Given the description of an element on the screen output the (x, y) to click on. 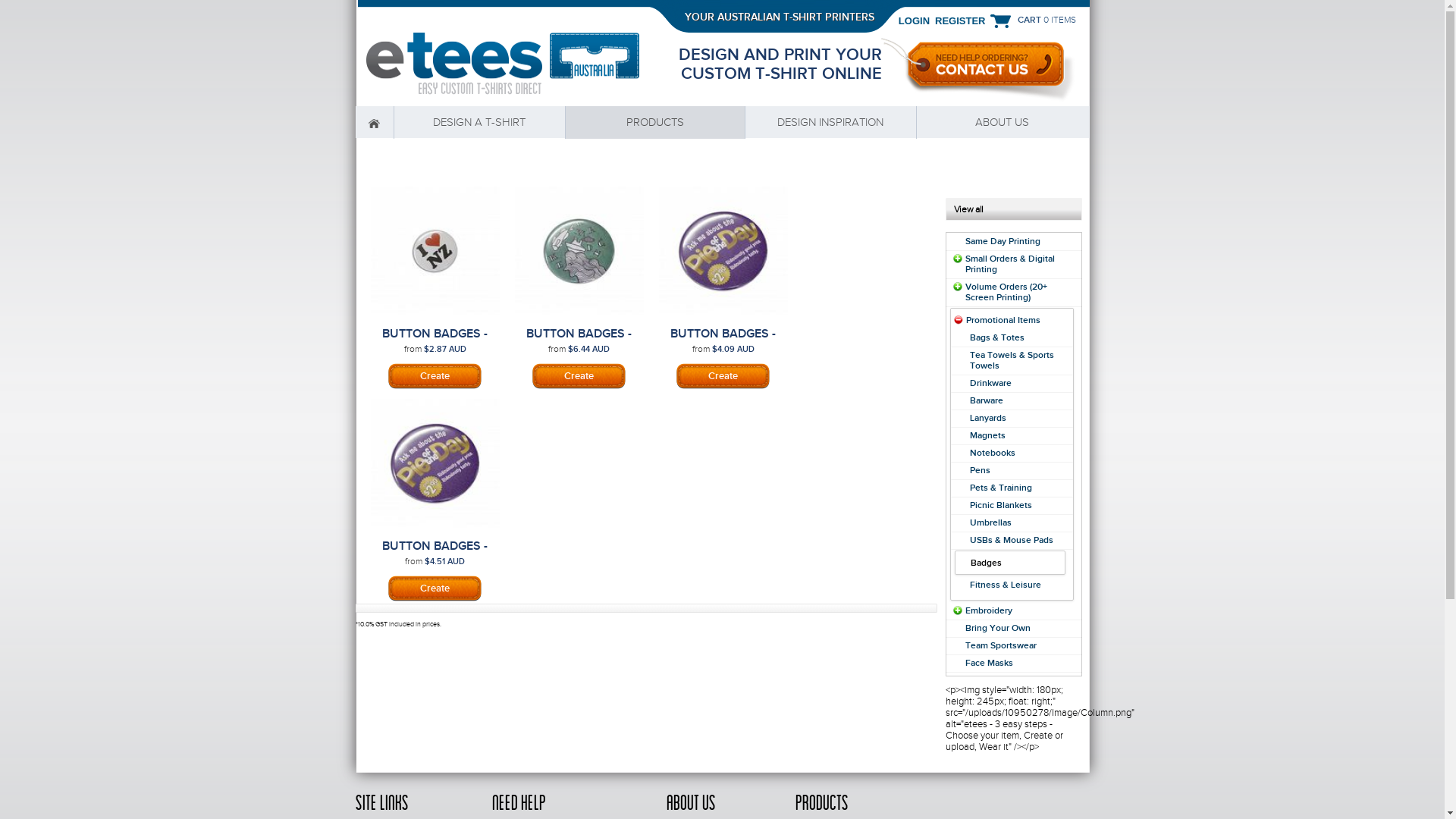
Promotional Items Element type: text (1003, 319)
Bags & Totes Element type: text (996, 337)
Team Sportswear Element type: text (999, 645)
Drinkware Element type: text (989, 382)
Same Day Printing Element type: text (1001, 240)
Magnets Element type: text (986, 434)
Digital Printing Element type: text (578, 376)
Embroidery Element type: text (987, 610)
Bring Your Own Element type: text (996, 627)
REGISTER Element type: text (957, 20)
Fitness & Leisure Element type: text (1004, 584)
Notebooks Element type: text (991, 452)
Small Orders & Digital Printing Element type: text (1009, 263)
DESIGN INSPIRATION Element type: text (830, 122)
Face Masks Element type: text (988, 662)
BUTTON BADGES - 37MM Element type: text (434, 340)
BUTTON BADGES - 90MM Element type: text (434, 552)
Picnic Blankets Element type: text (1000, 504)
ABOUT US Element type: text (1002, 122)
Volume Orders (20+ Screen Printing) Element type: text (1005, 291)
USBs & Mouse Pads Element type: text (1010, 539)
Tea Towels & Sports Towels Element type: text (1011, 359)
Pets & Training Element type: text (1000, 487)
Digital Printing Element type: text (434, 376)
top bar Element type: hover (723, 16)
Digital Printing Element type: text (722, 376)
LOGIN Element type: text (913, 20)
T Shirt Printing - Design Your Own T-Shirts Element type: hover (496, 63)
Barware Element type: text (985, 400)
Pens Element type: text (979, 469)
BUTTON BADGES - 75MM Element type: text (722, 340)
HOME Element type: text (373, 122)
Digital Printing Element type: text (434, 588)
Umbrellas Element type: text (989, 522)
CART 0 ITEMS | Element type: text (1032, 19)
Lanyards Element type: text (987, 417)
PRODUCTS Element type: text (654, 121)
DESIGN A T-SHIRT Element type: text (479, 122)
BUTTON BADGES - 58MM Element type: text (578, 340)
